Given the description of an element on the screen output the (x, y) to click on. 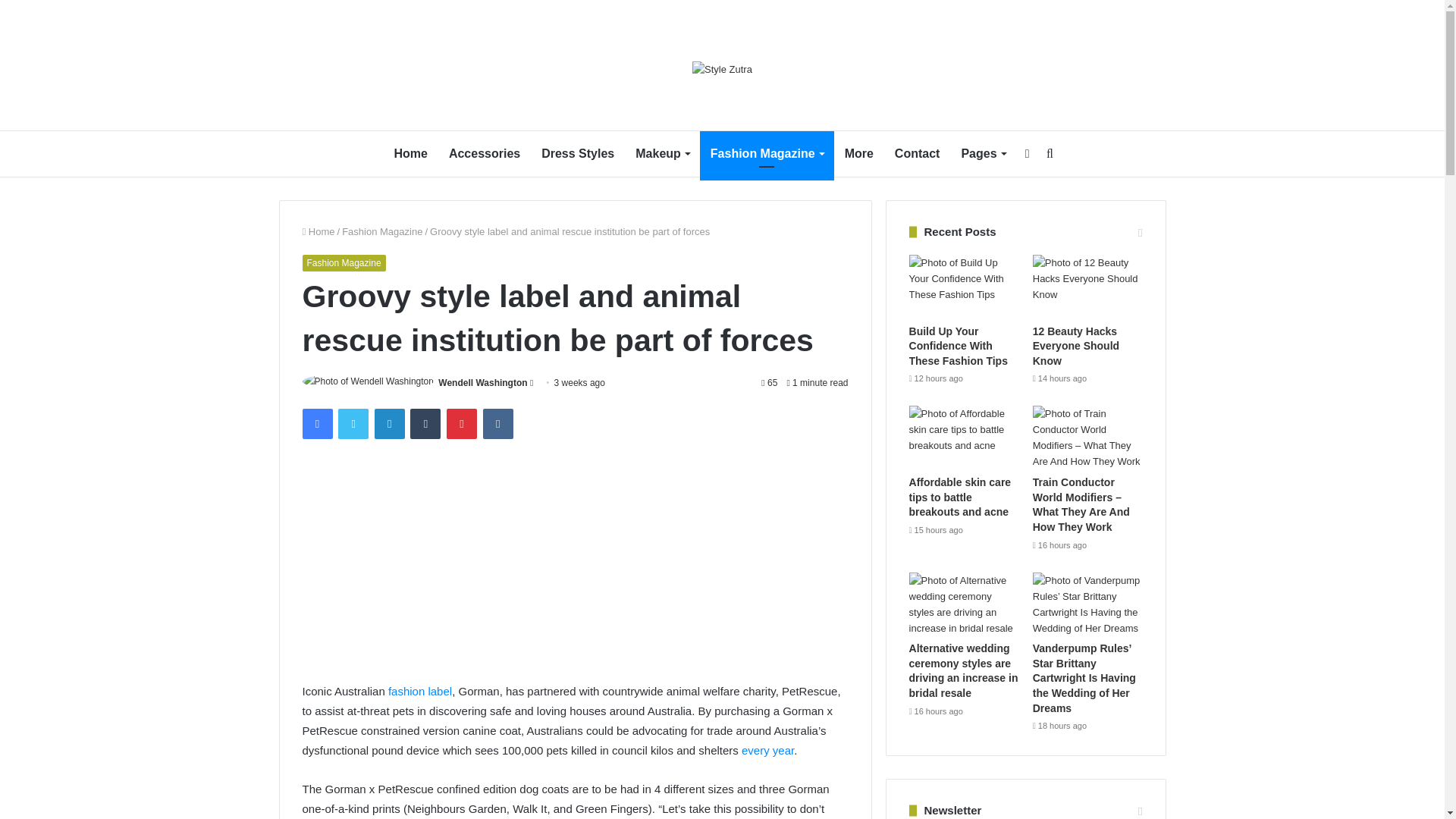
Tumblr (425, 423)
Fashion Magazine (382, 231)
LinkedIn (389, 423)
Pinterest (461, 423)
Makeup (662, 153)
Accessories (484, 153)
Wendell Washington (482, 382)
Twitter (352, 423)
Facebook (316, 423)
Home (317, 231)
